Given the description of an element on the screen output the (x, y) to click on. 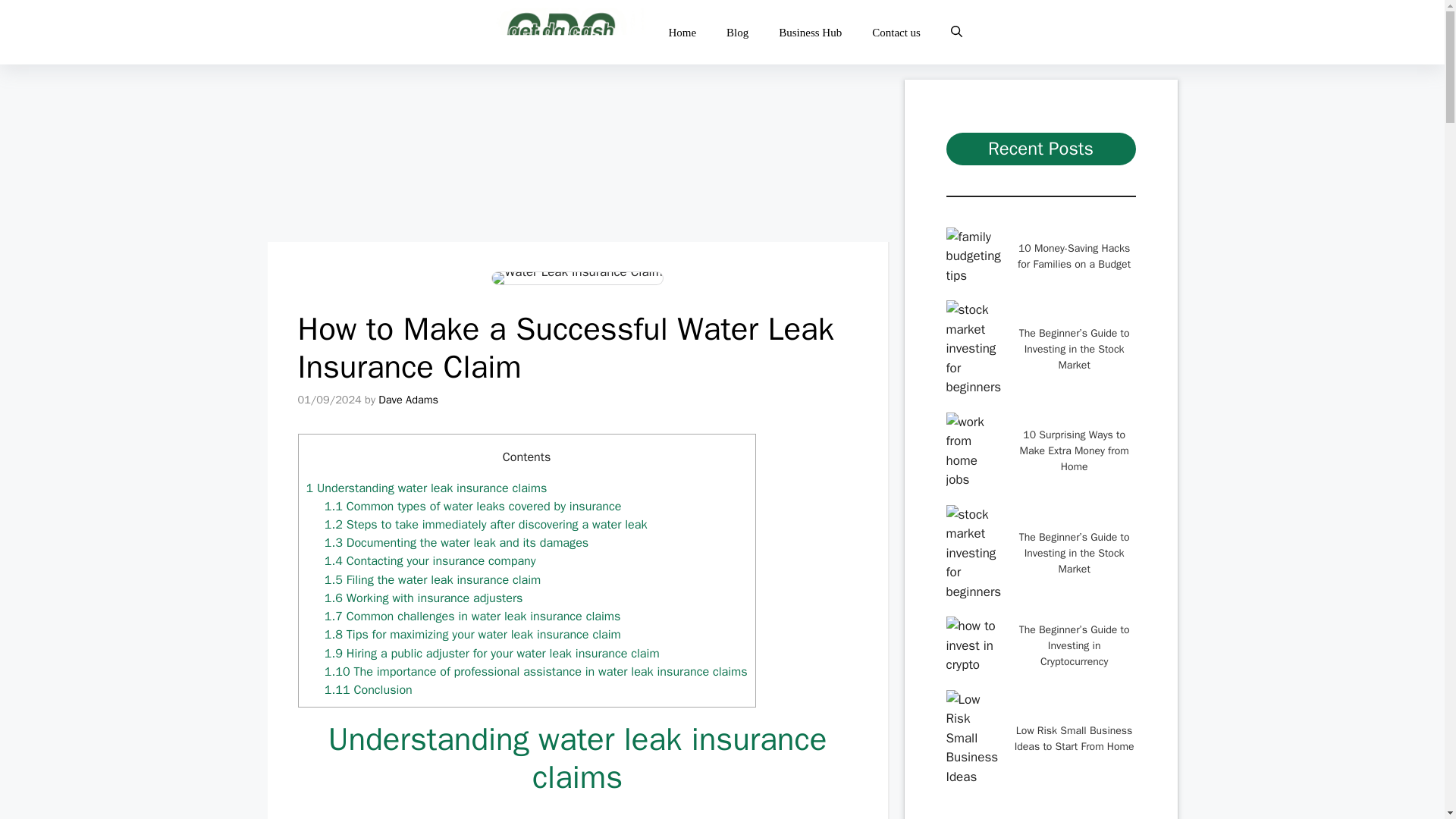
1.2 Steps to take immediately after discovering a water leak (485, 524)
Dave Adams (408, 399)
1.7 Common challenges in water leak insurance claims (472, 616)
1.11 Conclusion (368, 689)
1.6 Working with insurance adjusters (423, 597)
Business Hub (809, 31)
1.1 Common types of water leaks covered by insurance (472, 505)
10 Money-Saving Hacks for Families on a Budget (1074, 256)
1.5 Filing the water leak insurance claim (432, 579)
View all posts by Dave Adams (408, 399)
1.8 Tips for maximizing your water leak insurance claim (472, 634)
Contact us (896, 31)
10 Surprising Ways to Make Extra Money from Home (1073, 450)
